Given the description of an element on the screen output the (x, y) to click on. 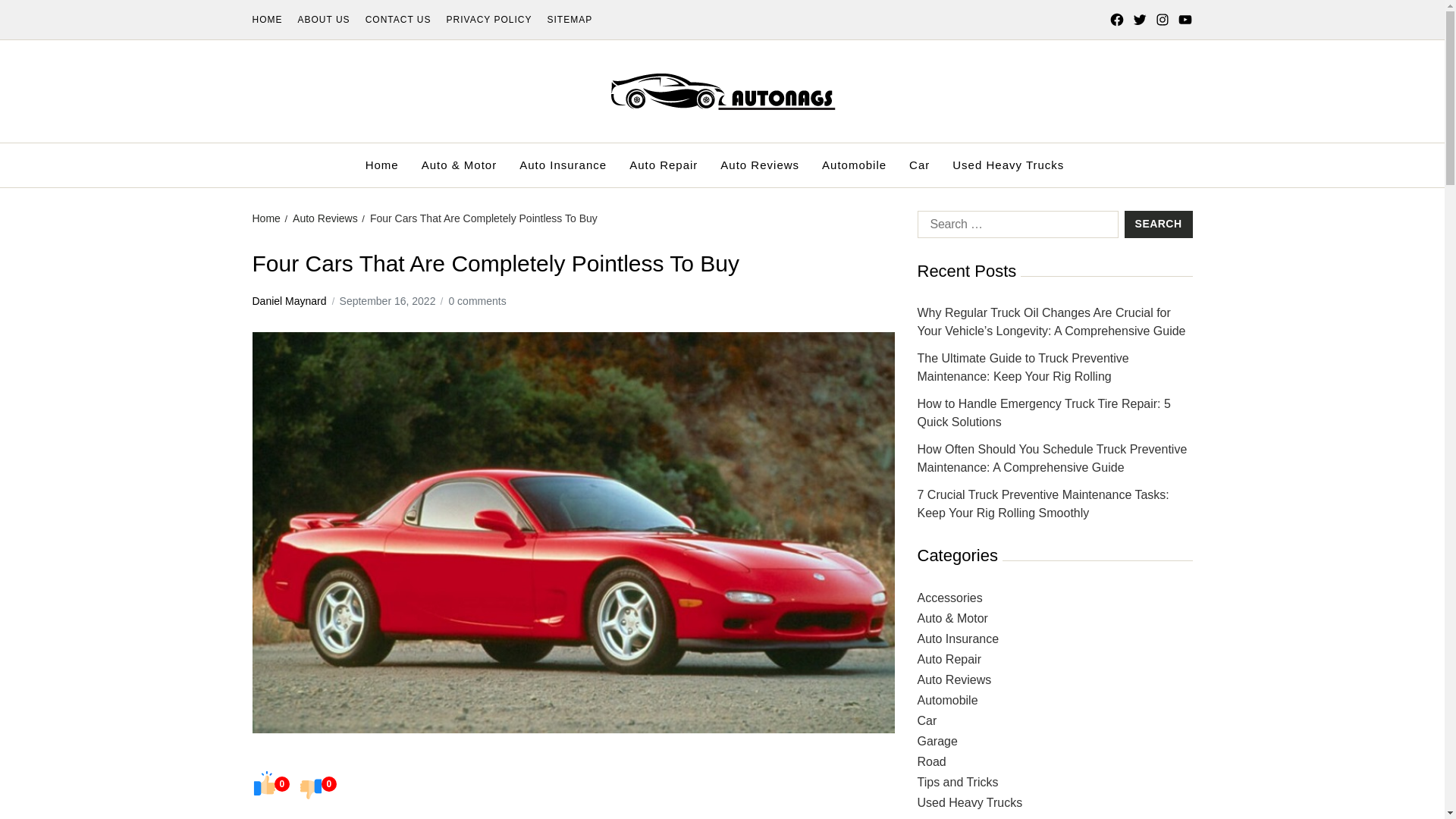
CONTACT US (397, 19)
ABOUT US (323, 19)
Auto Reviews (759, 165)
SITEMAP (569, 19)
Daniel Maynard (288, 300)
Home (265, 218)
Search (1158, 224)
PRIVACY POLICY (489, 19)
Automobile (854, 165)
Auto Reviews (325, 218)
Auto Insurance (563, 165)
0 comments (476, 300)
Search (1158, 224)
Used Heavy Trucks (1008, 165)
HOME (266, 19)
